Given the description of an element on the screen output the (x, y) to click on. 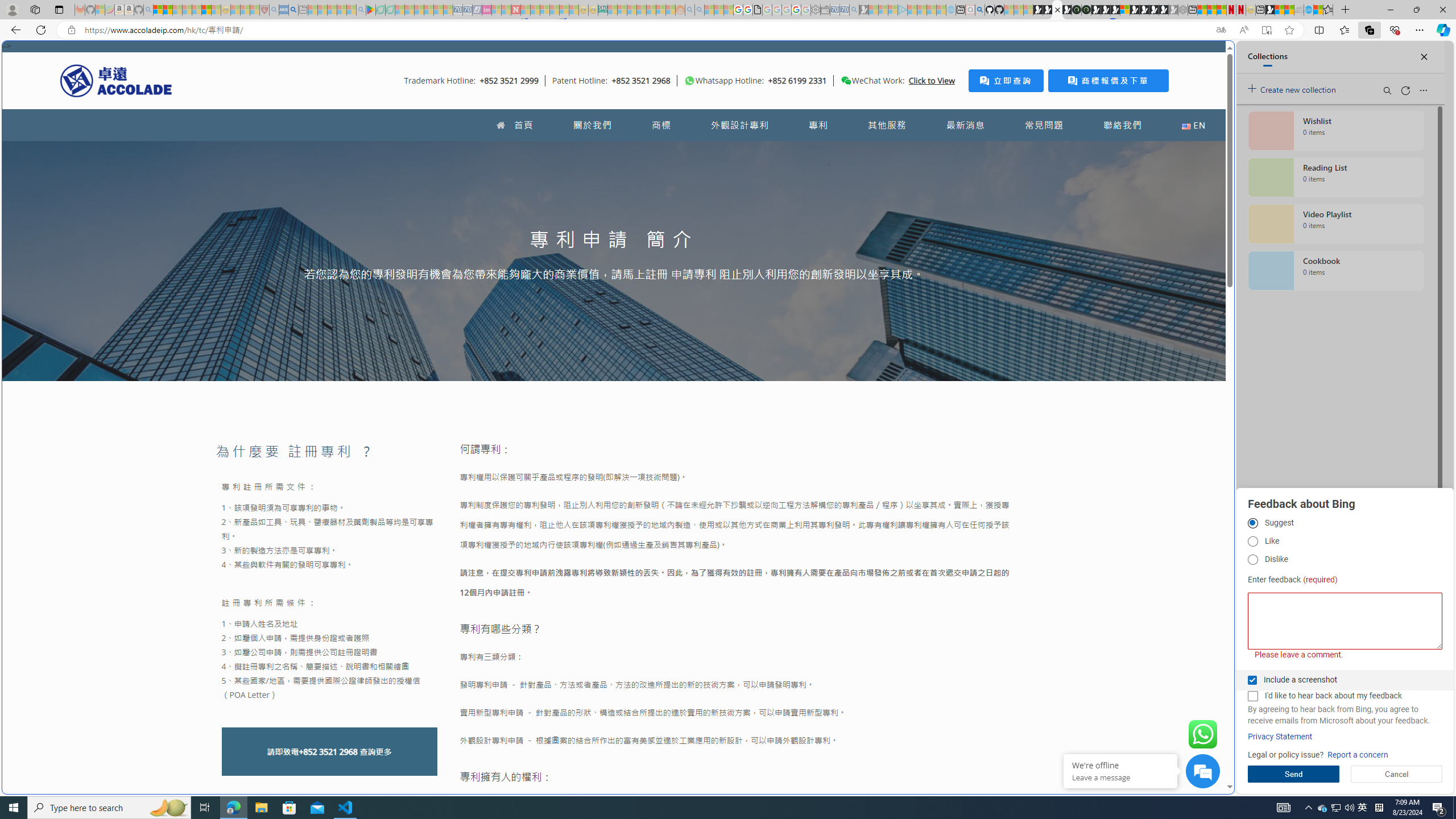
Earth has six continents not seven, radical new study claims (1288, 9)
Latest Politics News & Archive | Newsweek.com - Sleeping (515, 9)
Bluey: Let's Play! - Apps on Google Play (370, 9)
google_privacy_policy_zh-CN.pdf (757, 9)
Like (1252, 541)
